Given the description of an element on the screen output the (x, y) to click on. 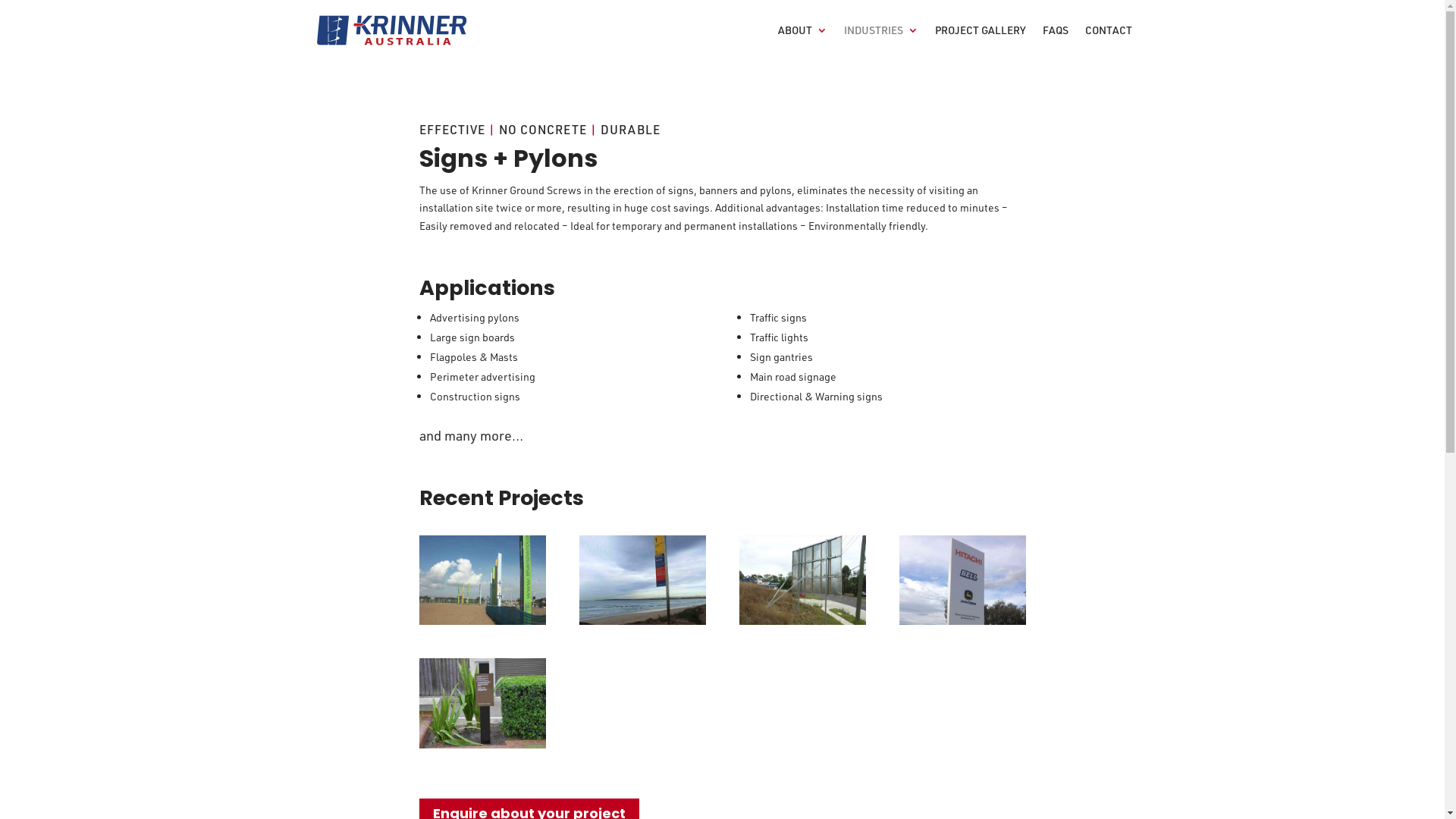
FAQS Element type: text (1054, 42)
ABOUT Element type: text (802, 42)
CONTACT Element type: text (1107, 42)
PROJECT GALLERY Element type: text (979, 42)
INDUSTRIES Element type: text (880, 42)
